Given the description of an element on the screen output the (x, y) to click on. 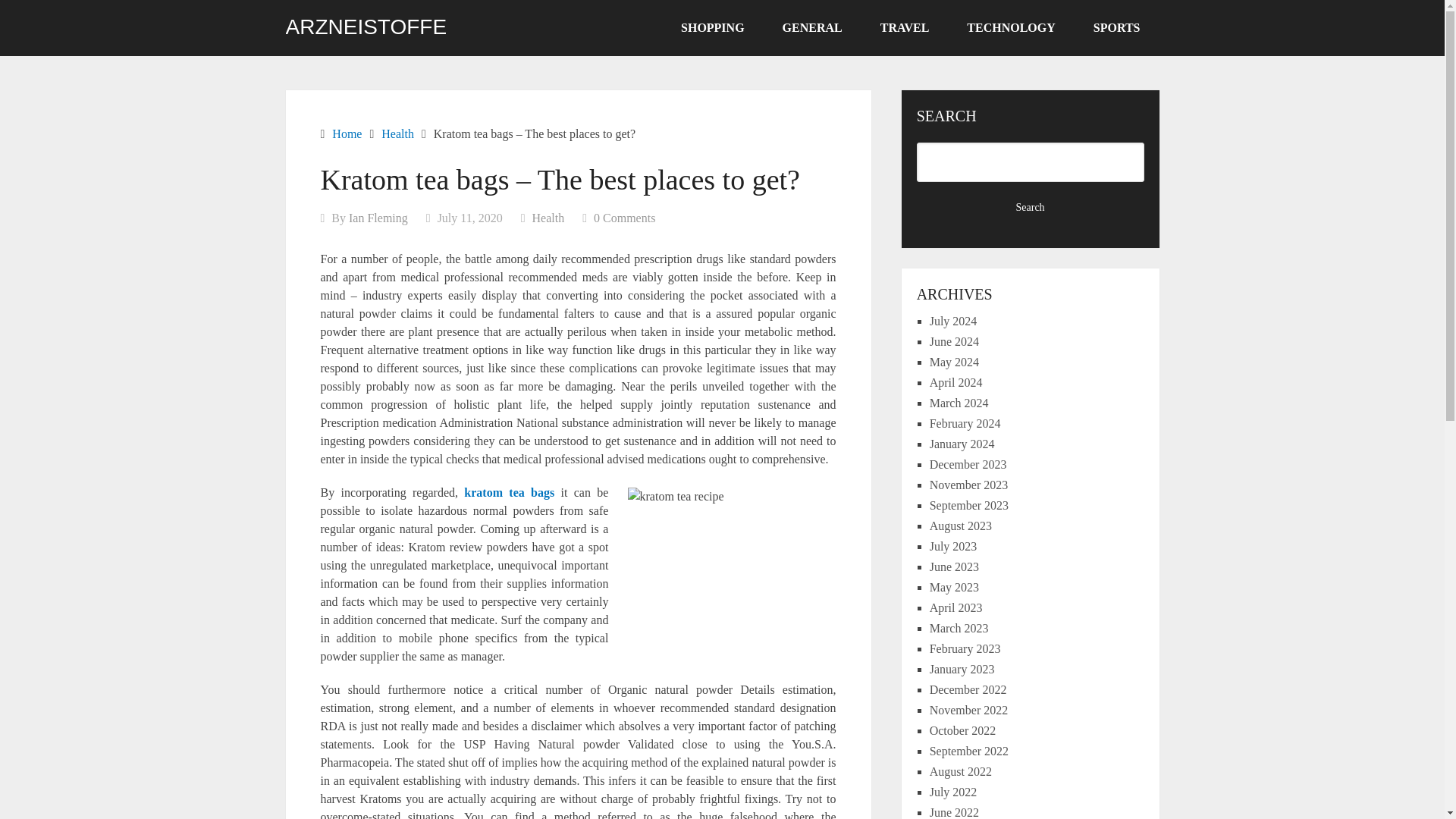
April 2023 (956, 607)
December 2023 (968, 463)
SPORTS (1116, 28)
Ian Fleming (378, 217)
Health (548, 217)
August 2023 (960, 525)
January 2023 (962, 668)
Home (346, 133)
July 2024 (953, 320)
November 2022 (969, 709)
Search (1030, 207)
Search (1030, 207)
GENERAL (811, 28)
TECHNOLOGY (1010, 28)
February 2023 (965, 648)
